Given the description of an element on the screen output the (x, y) to click on. 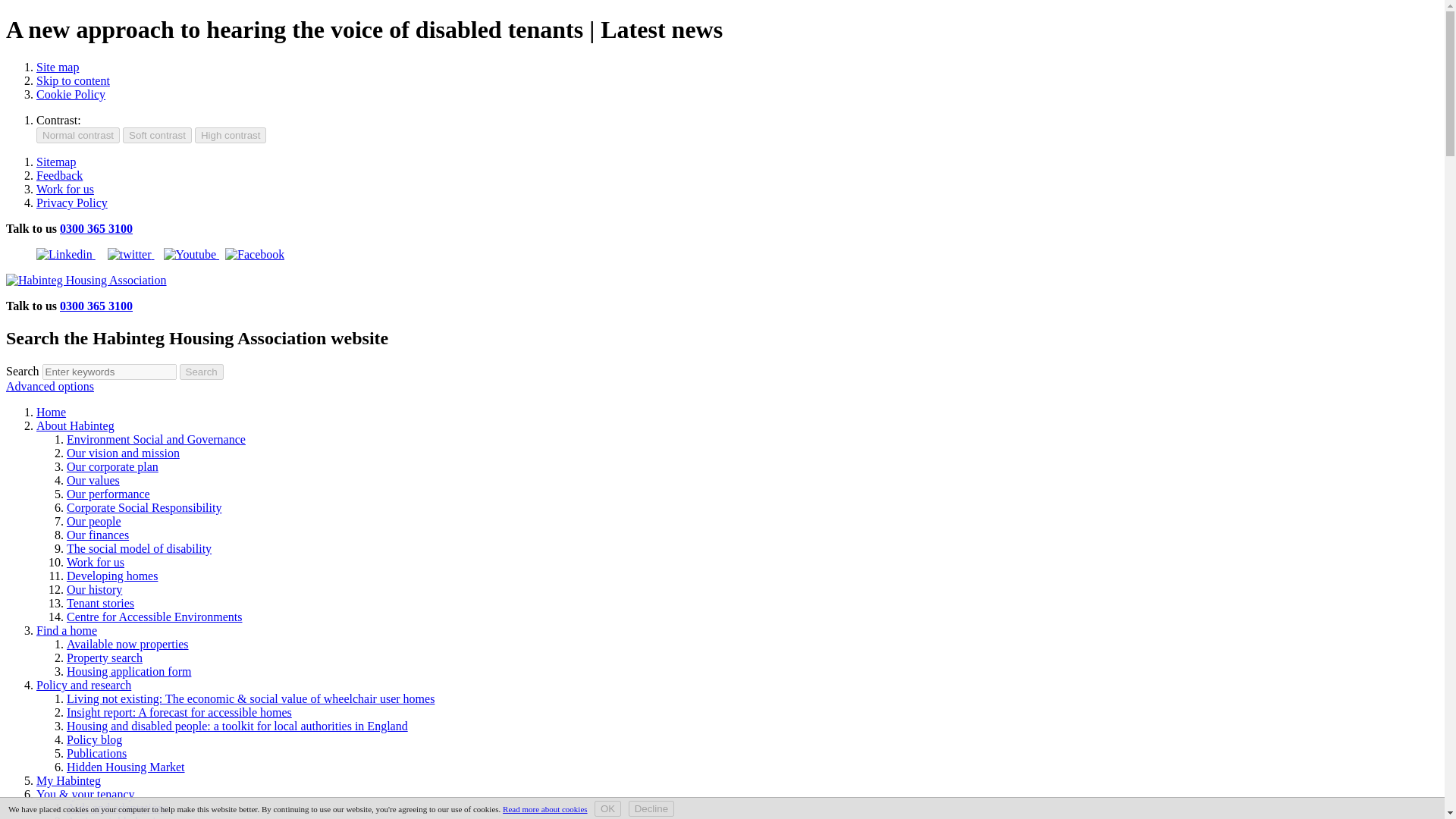
Our performance (107, 493)
Centre for Accessible Environments (154, 616)
Site map (57, 66)
Developing homes (111, 575)
Work for us (94, 562)
search (109, 371)
Skip to content (73, 80)
Environment Social and Governance (156, 439)
Cookie Policy (70, 93)
High contrast (230, 135)
